Given the description of an element on the screen output the (x, y) to click on. 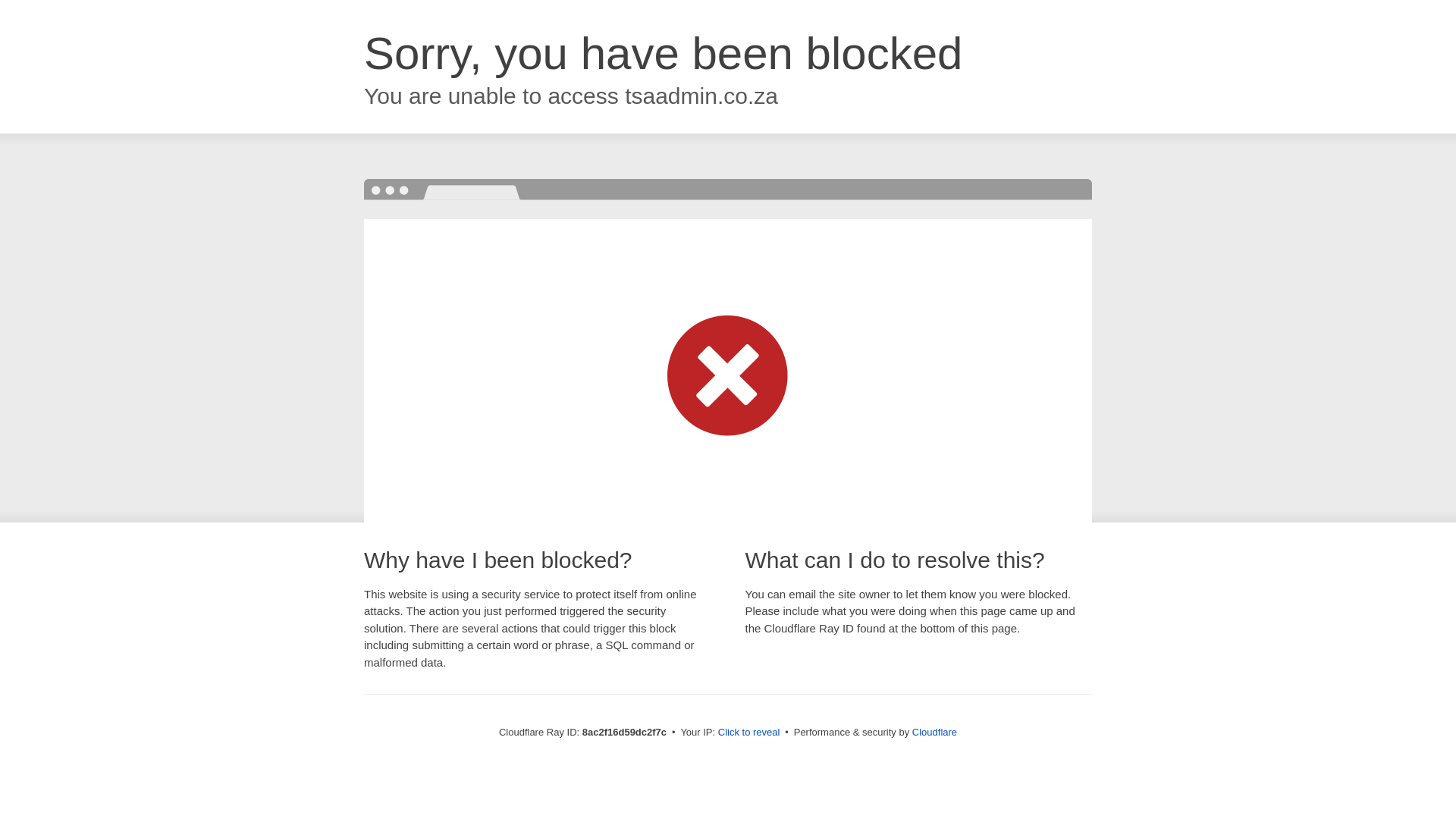
Cloudflare (934, 731)
Click to reveal (748, 732)
